Given the description of an element on the screen output the (x, y) to click on. 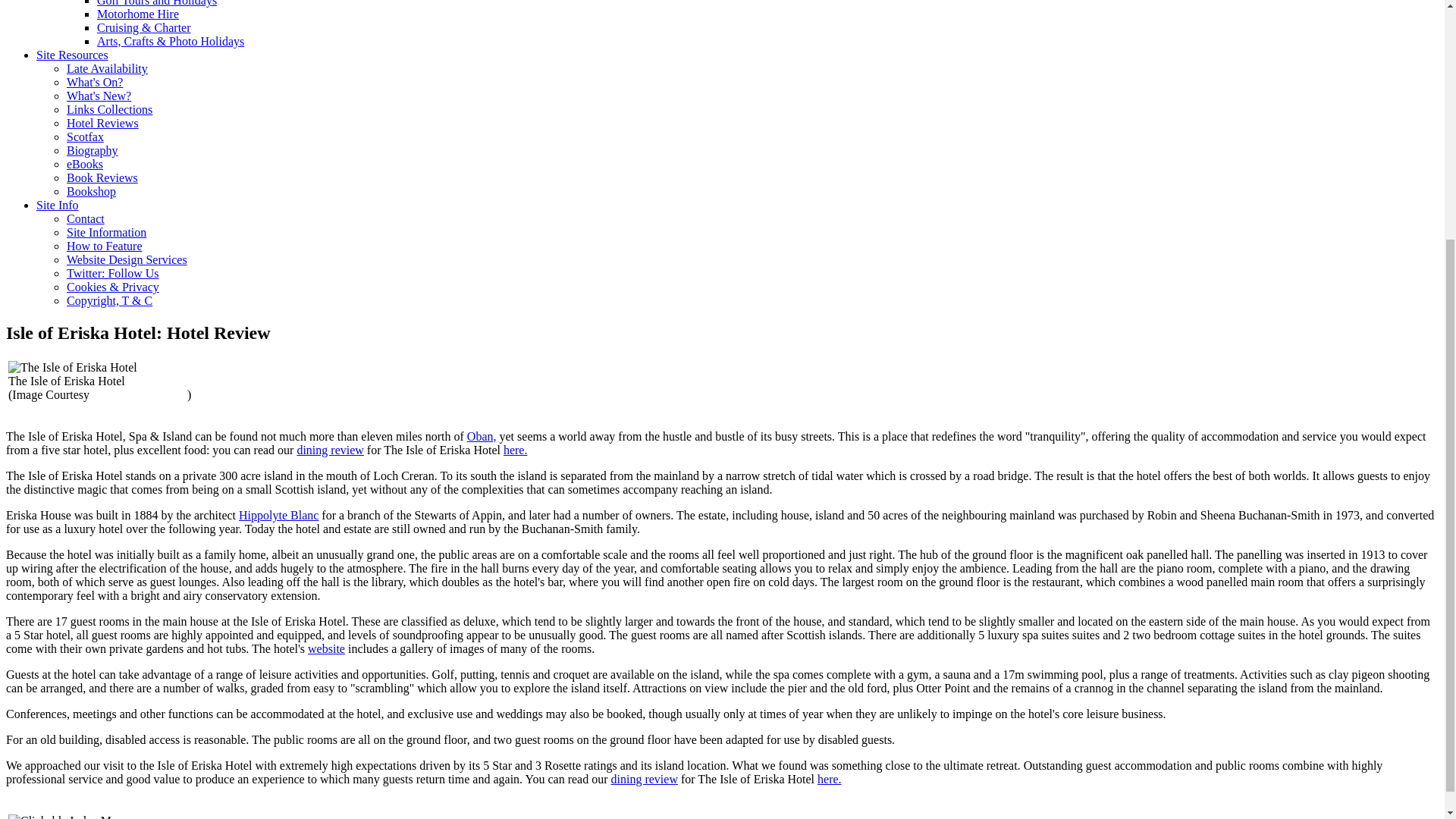
eBooks (84, 164)
Contact (85, 218)
Late Availability (107, 68)
Site Info (57, 205)
What's On? (94, 82)
Book Reviews (102, 177)
How to Feature (104, 245)
Golf Tours and Holidays (156, 3)
Hotel Reviews (102, 123)
Scotfax (84, 136)
Site Resources (71, 54)
Motorhome Hire (138, 13)
Site Information (106, 232)
Biography (91, 150)
What's New? (98, 95)
